Given the description of an element on the screen output the (x, y) to click on. 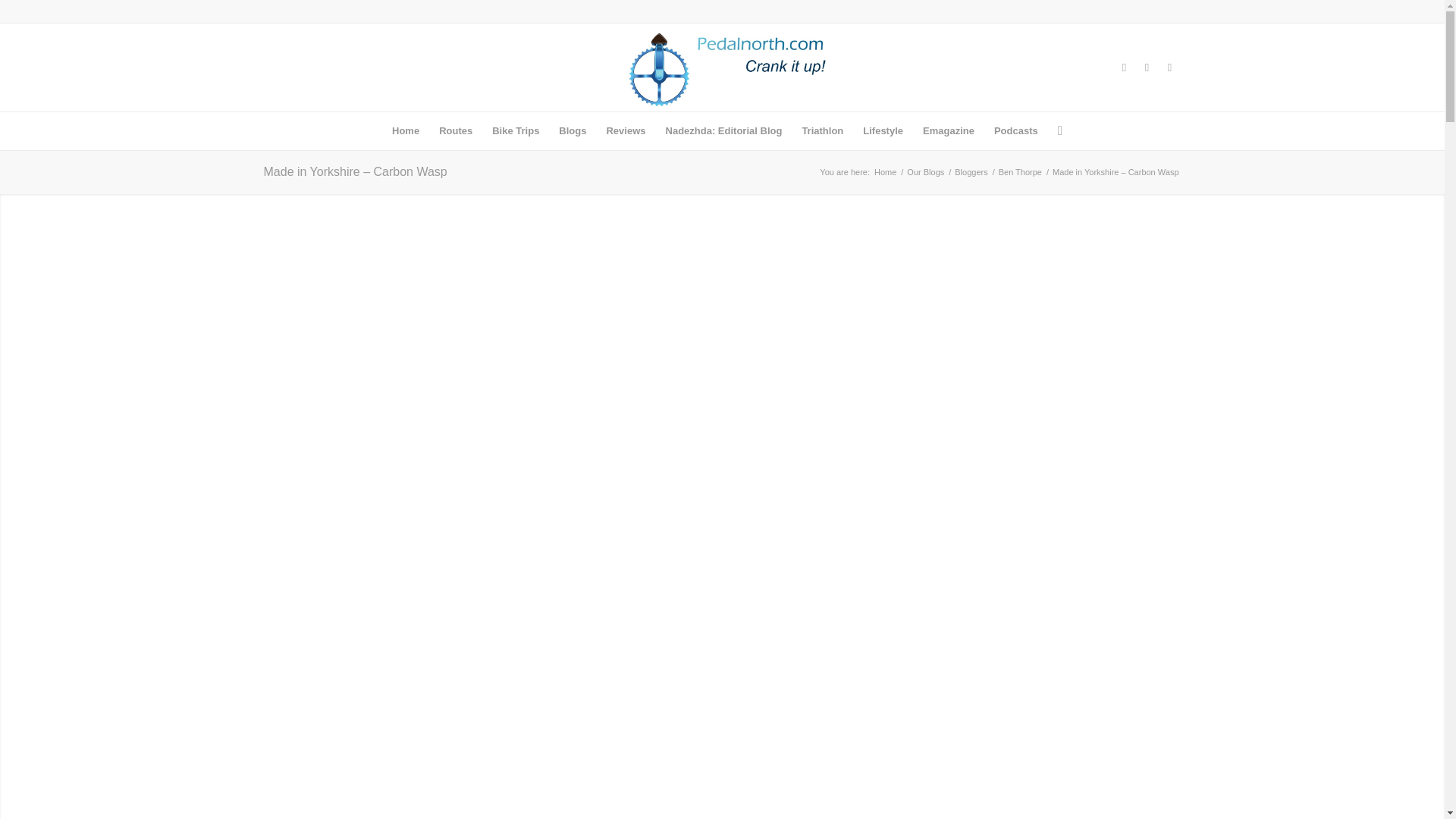
Instagram (1169, 67)
pedalnorth (885, 172)
Home (405, 130)
X (1146, 67)
Routes (455, 130)
Our Blogs (925, 172)
Facebook (1124, 67)
